Given the description of an element on the screen output the (x, y) to click on. 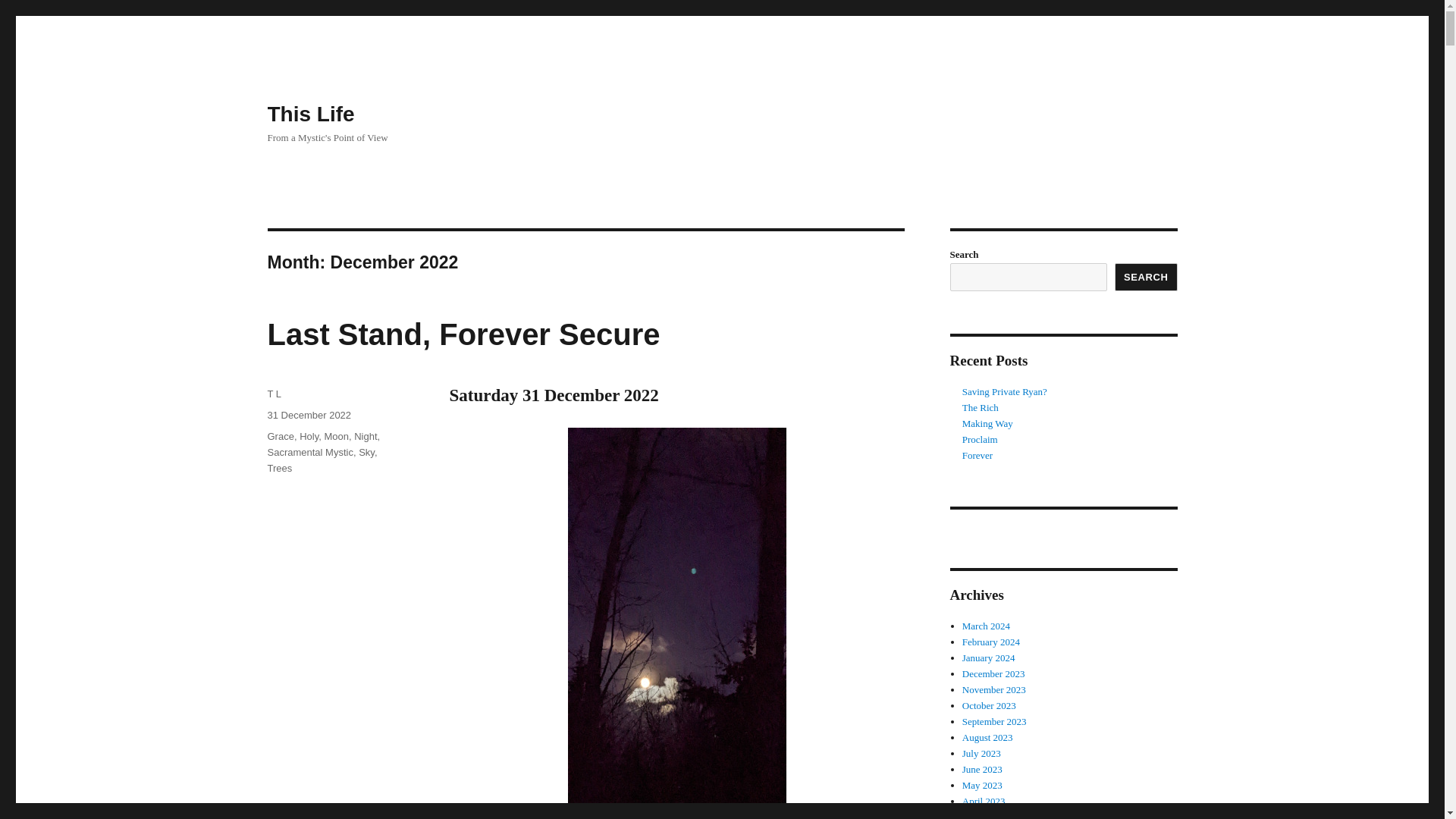
Trees (279, 468)
Holy (308, 436)
This Life (309, 114)
Last Stand, Forever Secure (462, 334)
T L (273, 393)
Night (365, 436)
31 December 2022 (308, 414)
Sky (366, 451)
Moon (336, 436)
Grace (280, 436)
Sacramental Mystic (309, 451)
